Given the description of an element on the screen output the (x, y) to click on. 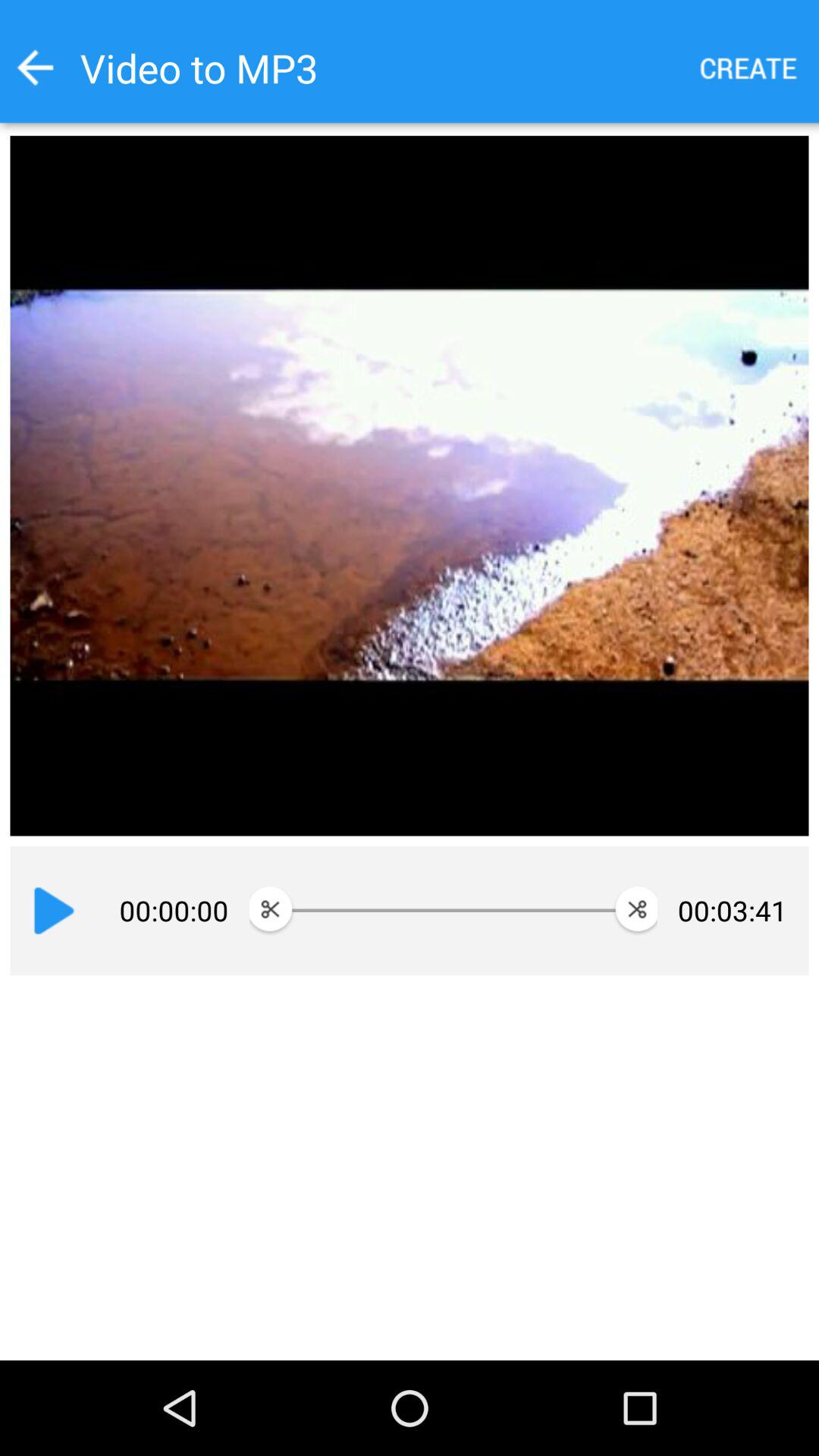
turn on icon next to the video to mp3 item (749, 67)
